Given the description of an element on the screen output the (x, y) to click on. 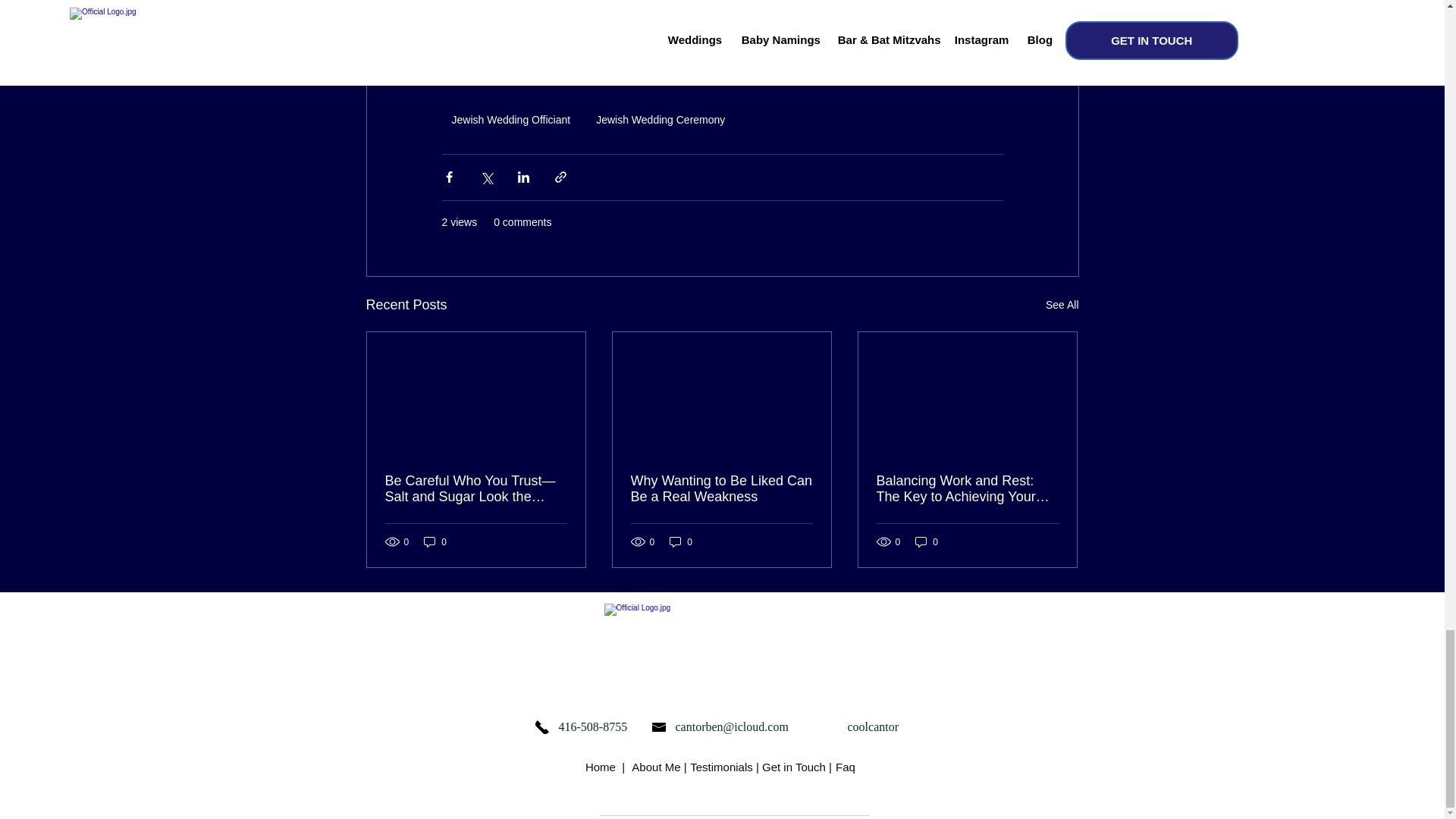
bensilverberg.com (770, 62)
Why Wanting to Be Liked Can Be a Real Weakness (721, 489)
Jewish Wedding Officiant (510, 119)
0 (435, 541)
Faq (845, 766)
0 (681, 541)
0 (926, 541)
416-508-8755 (592, 726)
Jewish Wedding Ceremony (660, 119)
coolcantor  (874, 726)
